Given the description of an element on the screen output the (x, y) to click on. 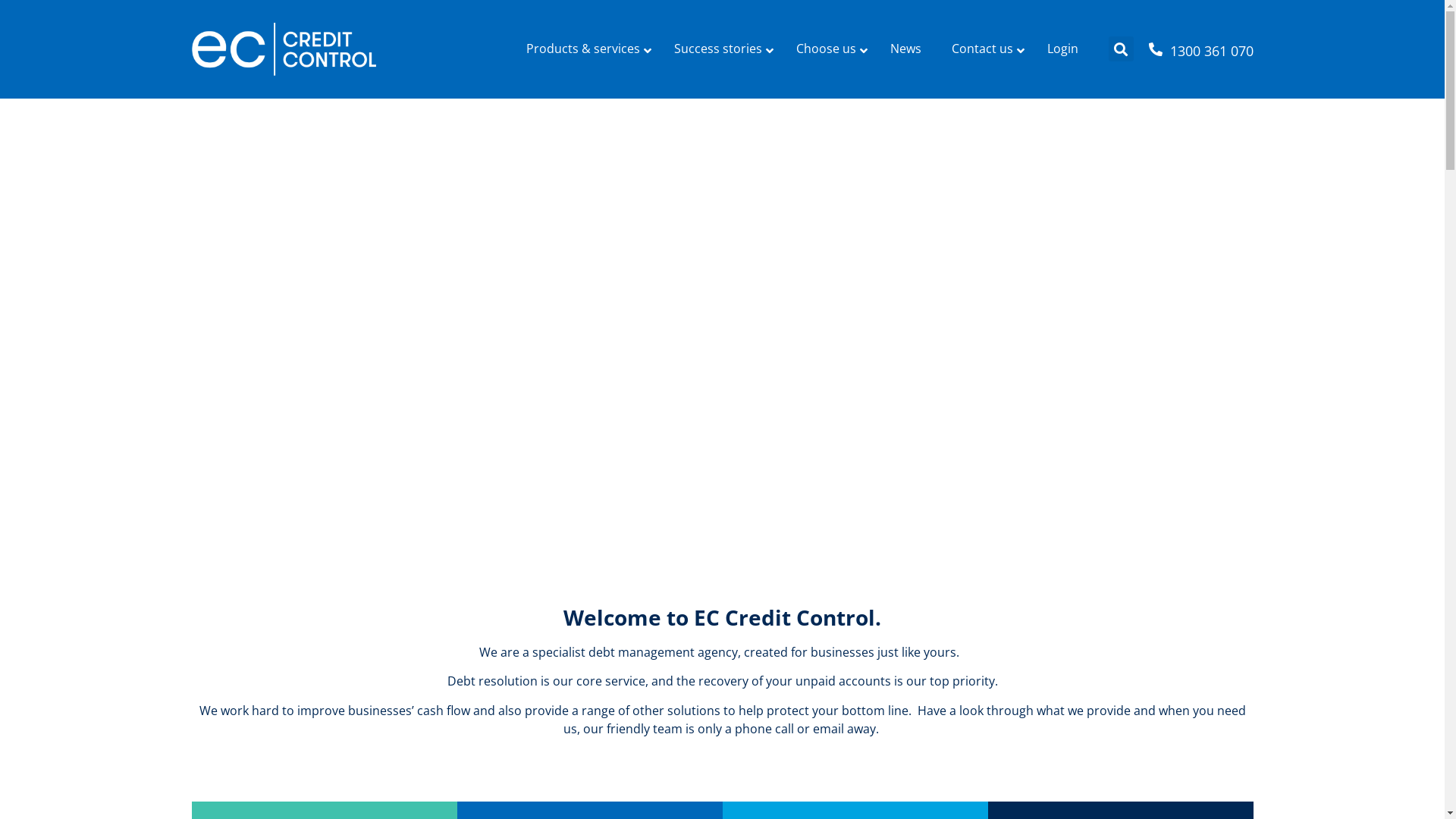
Products & services Element type: text (584, 48)
Success stories Element type: text (719, 48)
1300 361 070 Element type: text (1210, 50)
Login Element type: text (1061, 48)
News Element type: text (905, 48)
Choose us Element type: text (828, 48)
Contact us Element type: text (983, 48)
